Given the description of an element on the screen output the (x, y) to click on. 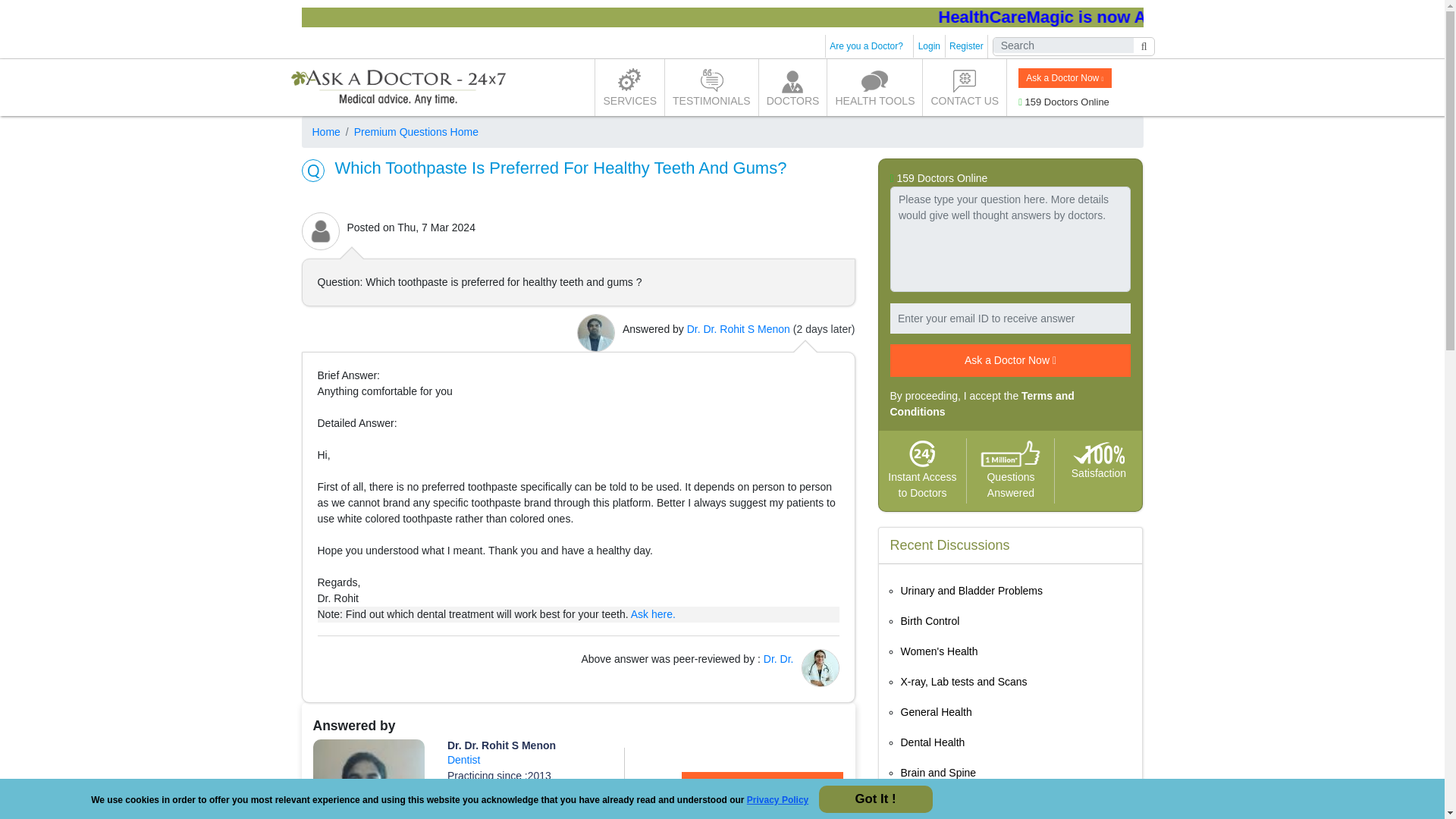
Home (326, 132)
Premium Questions Home (409, 132)
CONTACT US (964, 87)
SERVICES (629, 87)
Dr. Dr. Rohit S Menon (738, 328)
Ask me a question (762, 788)
HEALTH TOOLS (874, 87)
Privacy Policy (777, 799)
Dentist (463, 759)
Login (929, 45)
Ask a Doctor Now (1063, 77)
Dr. Dr. (777, 658)
TESTIMONIALS (711, 87)
Ask here. (652, 613)
Dr. Dr. Rohit S Menon (501, 745)
